Given the description of an element on the screen output the (x, y) to click on. 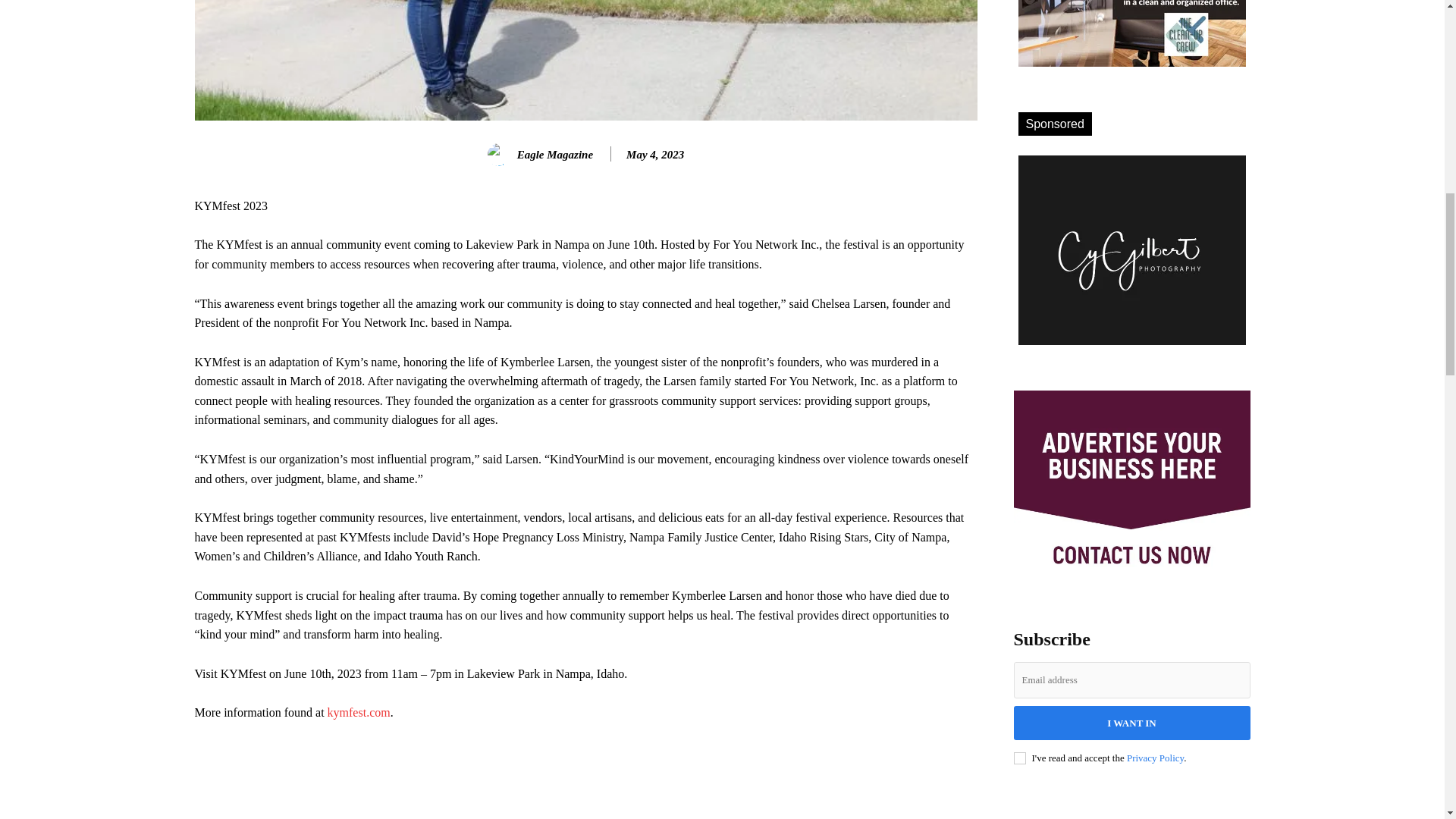
Eagle Magazine (501, 154)
